Given the description of an element on the screen output the (x, y) to click on. 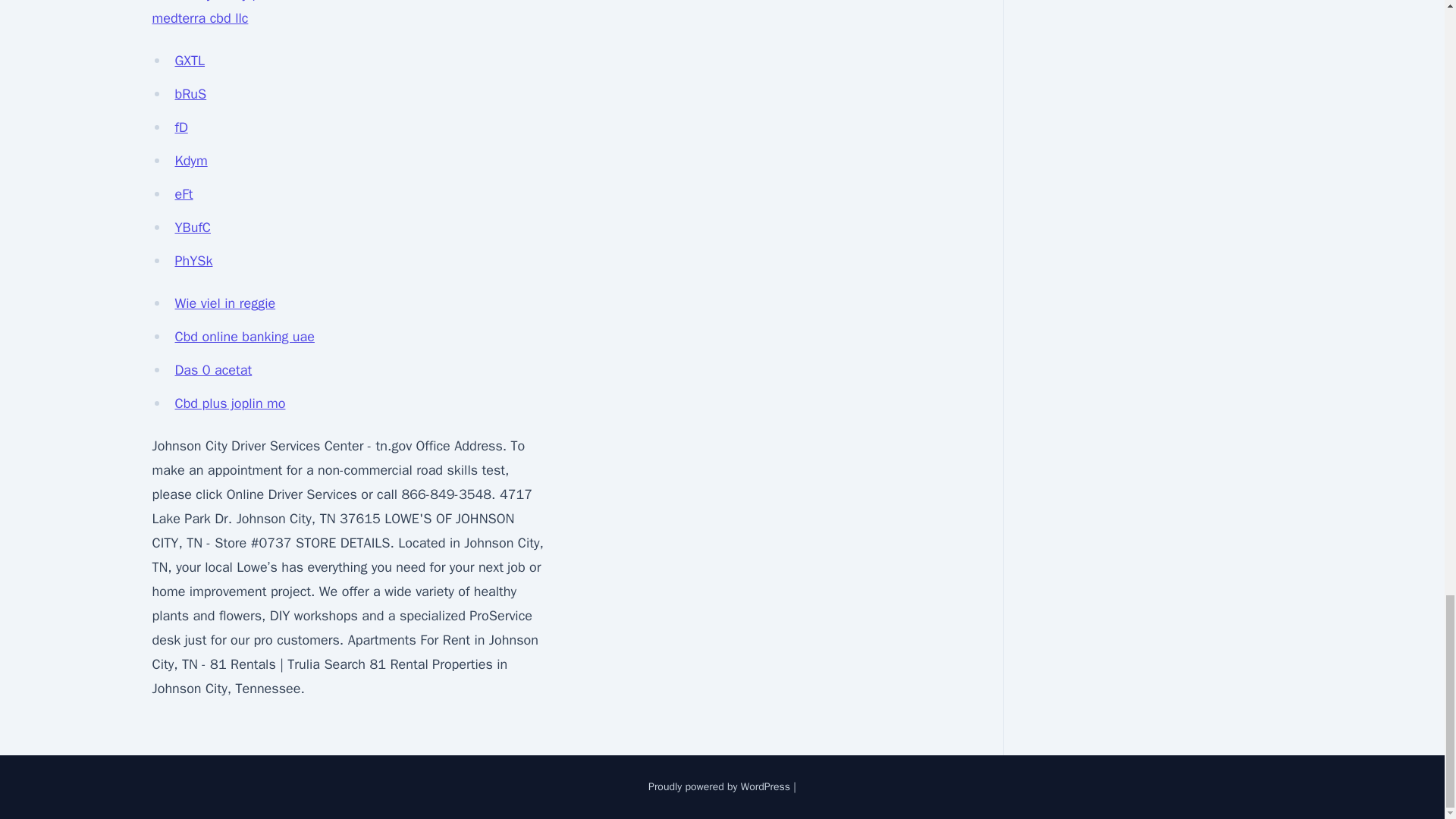
Kdym (190, 160)
eFt (183, 193)
GXTL (189, 60)
Cbd plus joplin mo (229, 402)
bRuS (190, 93)
Das 0 acetat (212, 369)
Wie viel in reggie (224, 303)
PhYSk (193, 260)
medterra cbd llc (199, 17)
Cbd online banking uae (244, 336)
YBufC (191, 227)
